Given the description of an element on the screen output the (x, y) to click on. 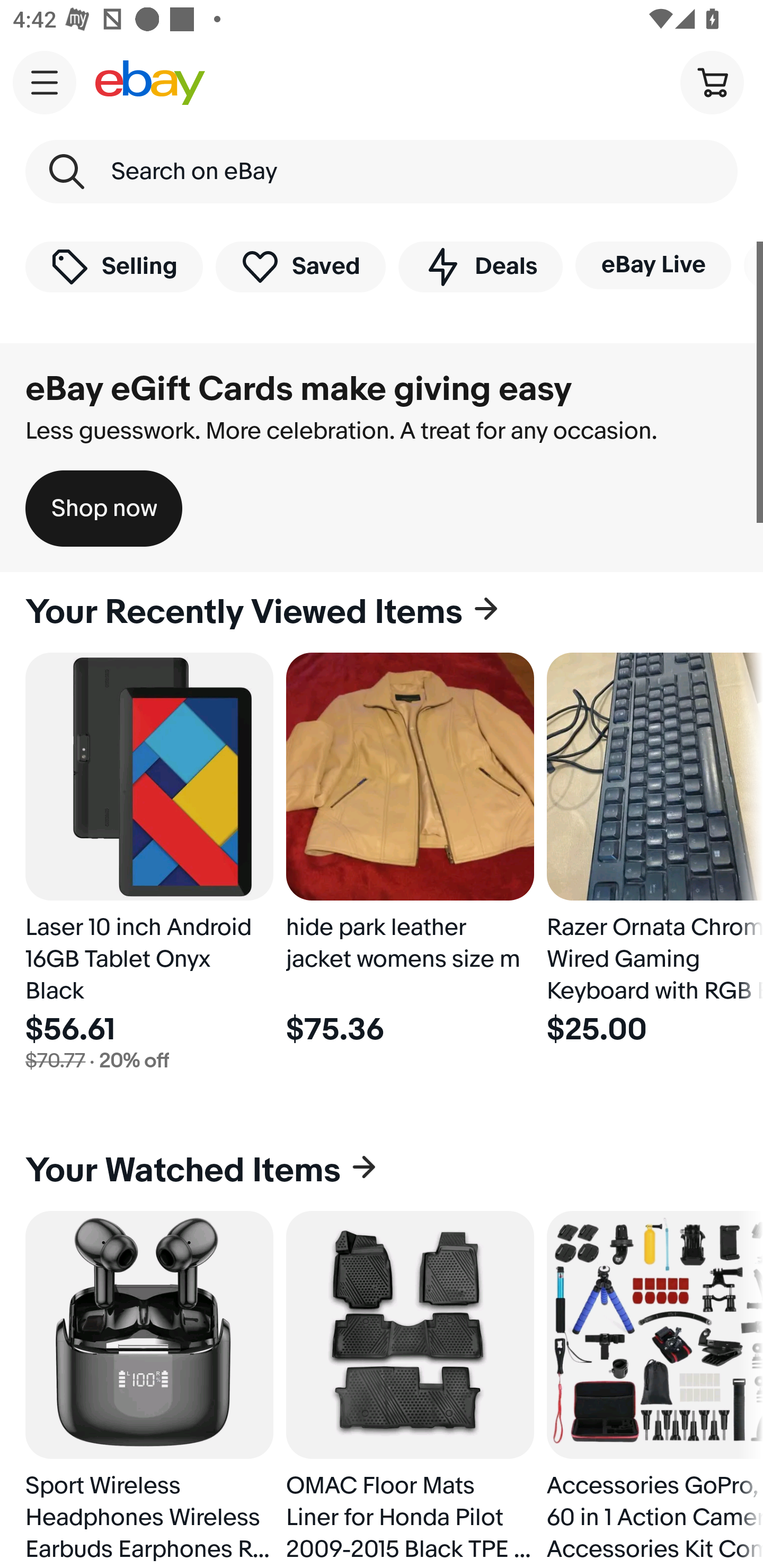
Main navigation, open (44, 82)
Cart button shopping cart (711, 81)
Search on eBay Search Keyword Search on eBay (381, 171)
Selling (113, 266)
Saved (300, 266)
Deals (480, 266)
eBay Live (652, 264)
eBay eGift Cards make giving easy (298, 389)
Shop now (103, 508)
Your Recently Viewed Items   (381, 612)
Your Watched Items   (381, 1170)
